Given the description of an element on the screen output the (x, y) to click on. 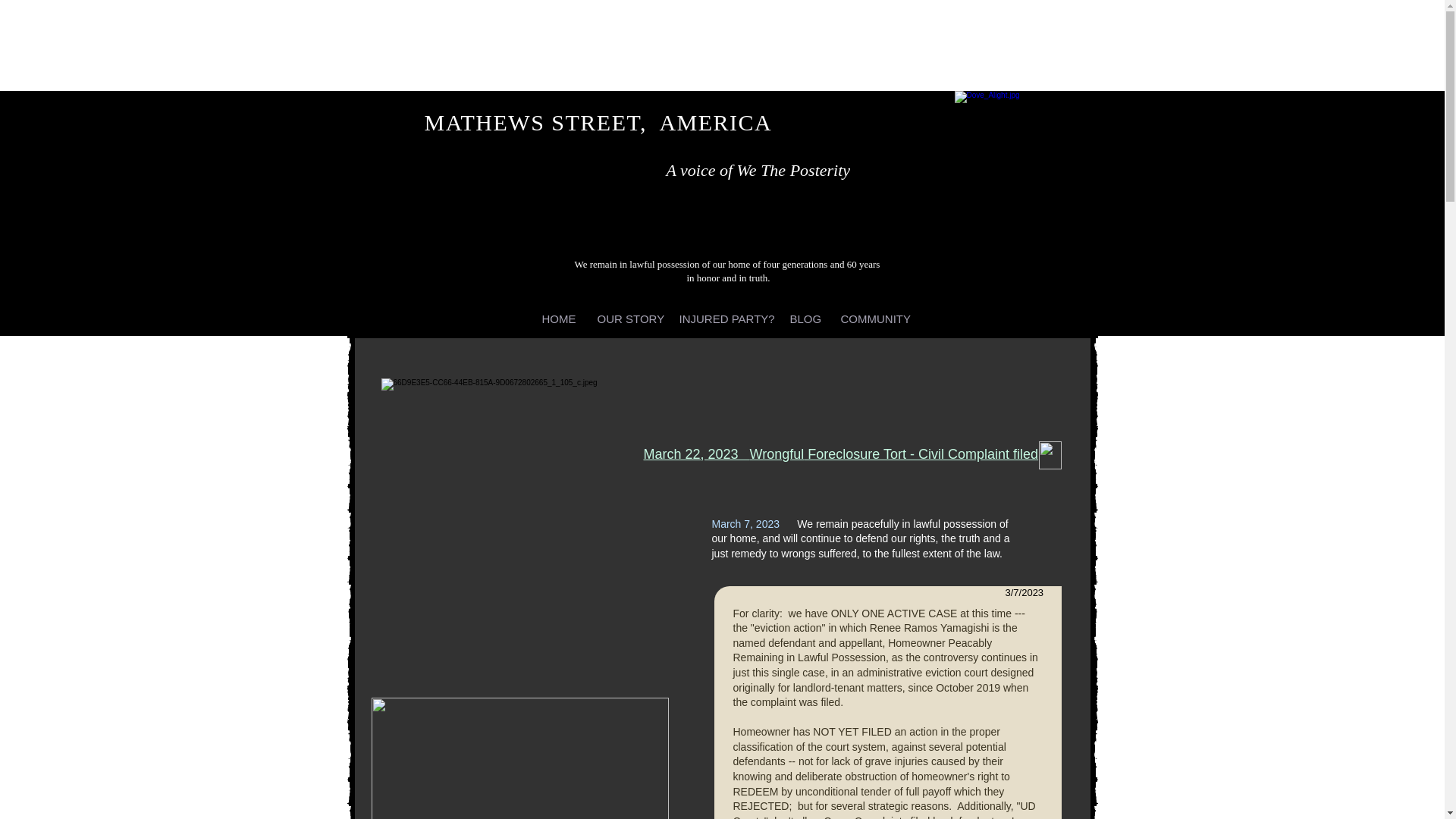
BLOG (802, 317)
HOME (558, 317)
COMMUNITY (873, 317)
OUR STORY (625, 317)
Wrongful (777, 453)
INJURED PARTY? (721, 317)
 Foreclosure Tort - Civil Complaint filed (920, 453)
March 22, 2023   (696, 453)
